Given the description of an element on the screen output the (x, y) to click on. 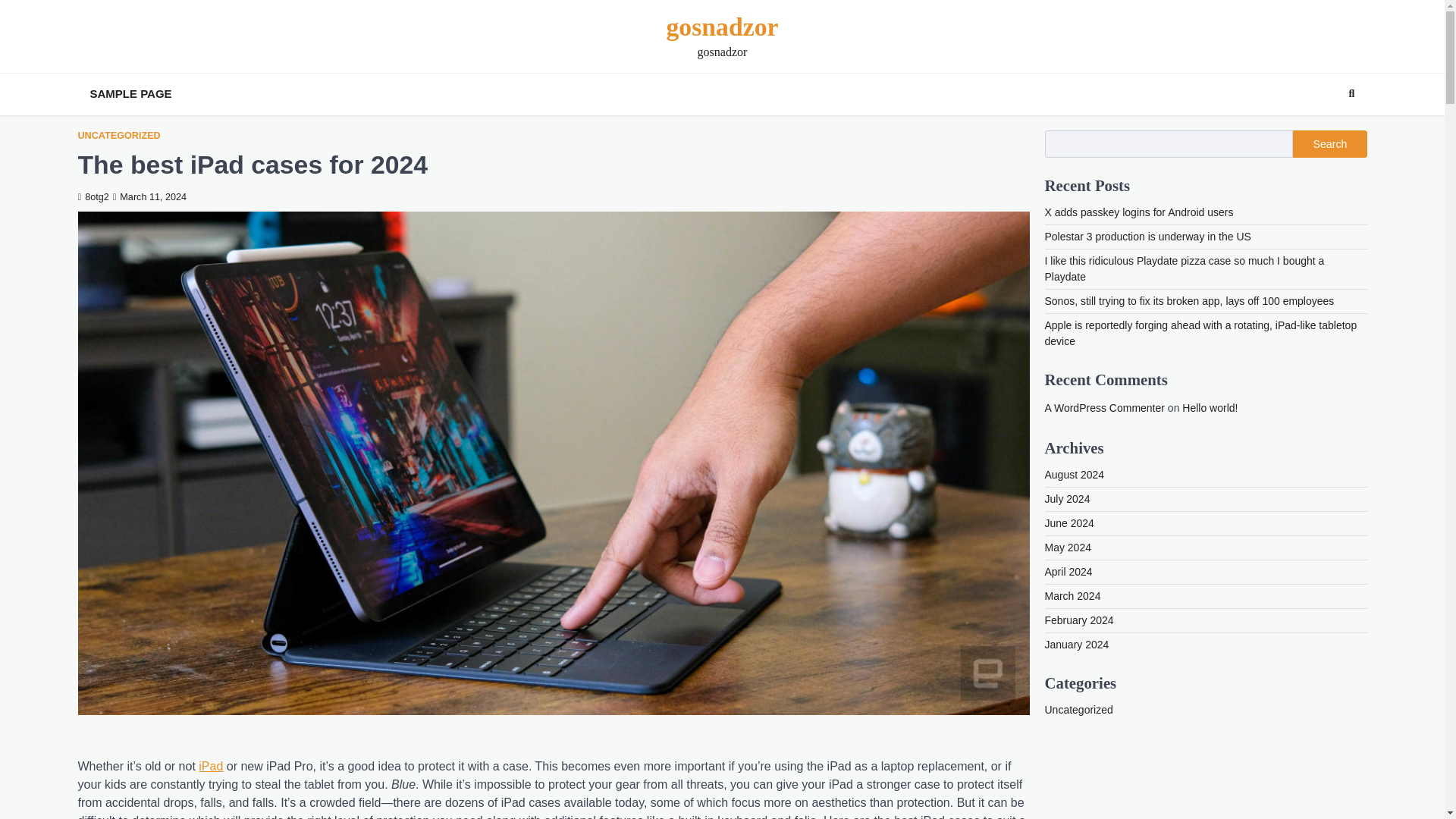
gosnadzor (721, 26)
SAMPLE PAGE (129, 94)
8otg2 (92, 196)
Search (1323, 129)
UNCATEGORIZED (118, 135)
March 11, 2024 (149, 196)
Search (1351, 93)
iPad (210, 766)
